Given the description of an element on the screen output the (x, y) to click on. 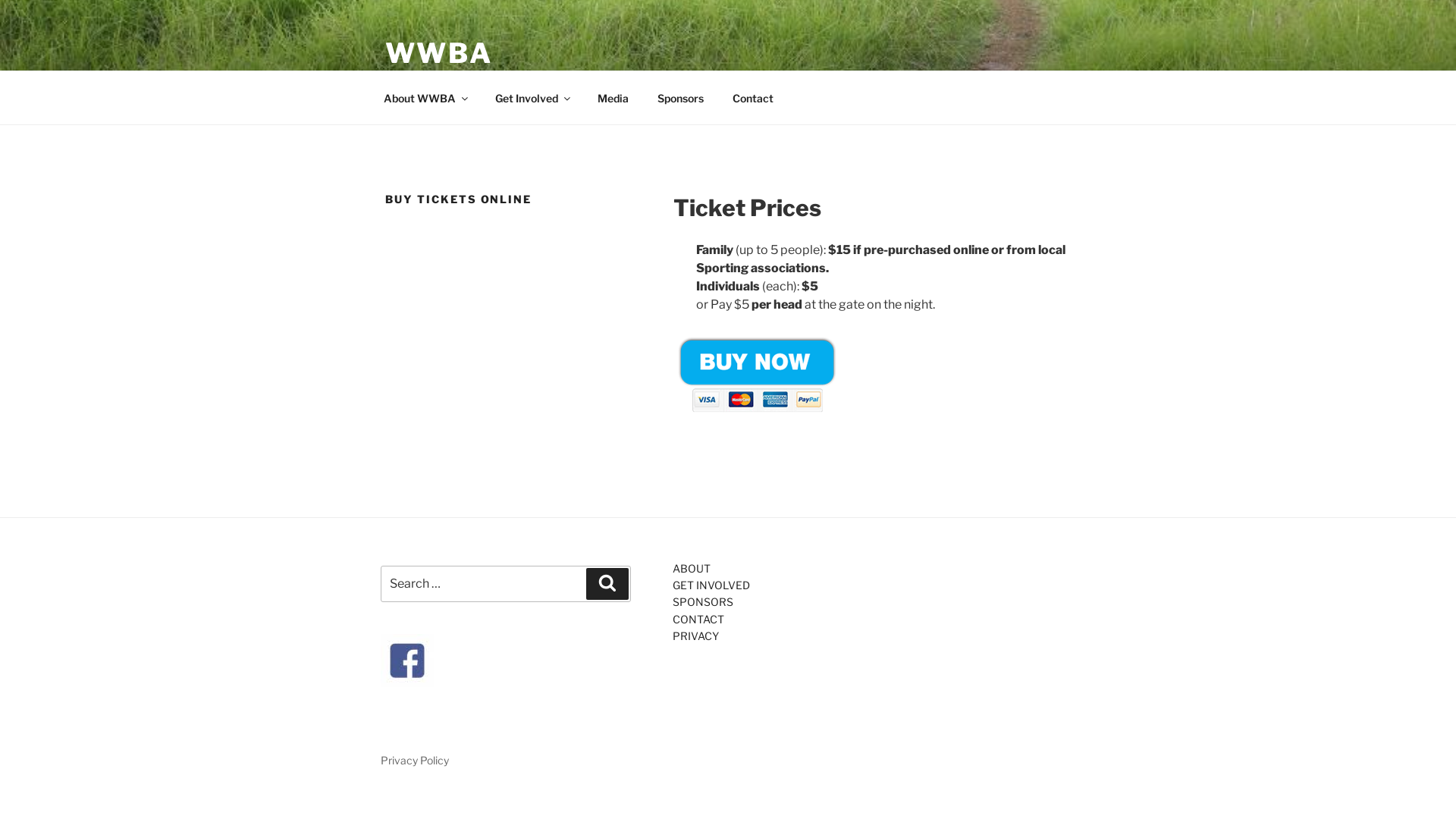
PRIVACY Element type: text (695, 635)
CONTACT Element type: text (698, 618)
SPONSORS Element type: text (702, 601)
Sponsors Element type: text (679, 97)
Search Element type: text (607, 583)
GET INVOLVED Element type: text (710, 584)
WWBA Element type: text (438, 52)
Get Involved Element type: text (531, 97)
Media Element type: text (612, 97)
Contact Element type: text (752, 97)
Privacy Policy Element type: text (414, 759)
About WWBA Element type: text (424, 97)
ABOUT Element type: text (691, 567)
